Given the description of an element on the screen output the (x, y) to click on. 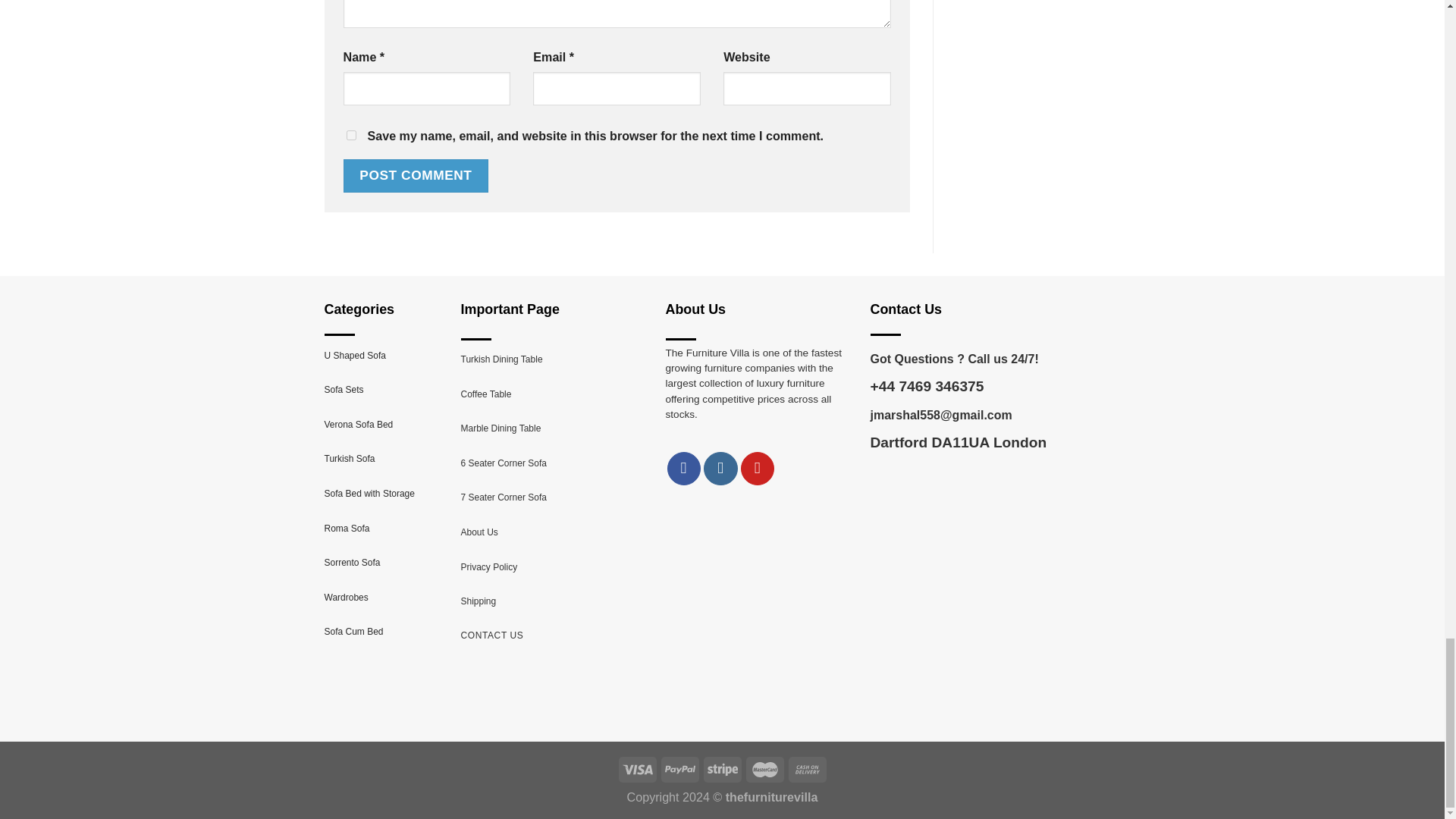
yes (350, 135)
Post Comment (414, 175)
